Given the description of an element on the screen output the (x, y) to click on. 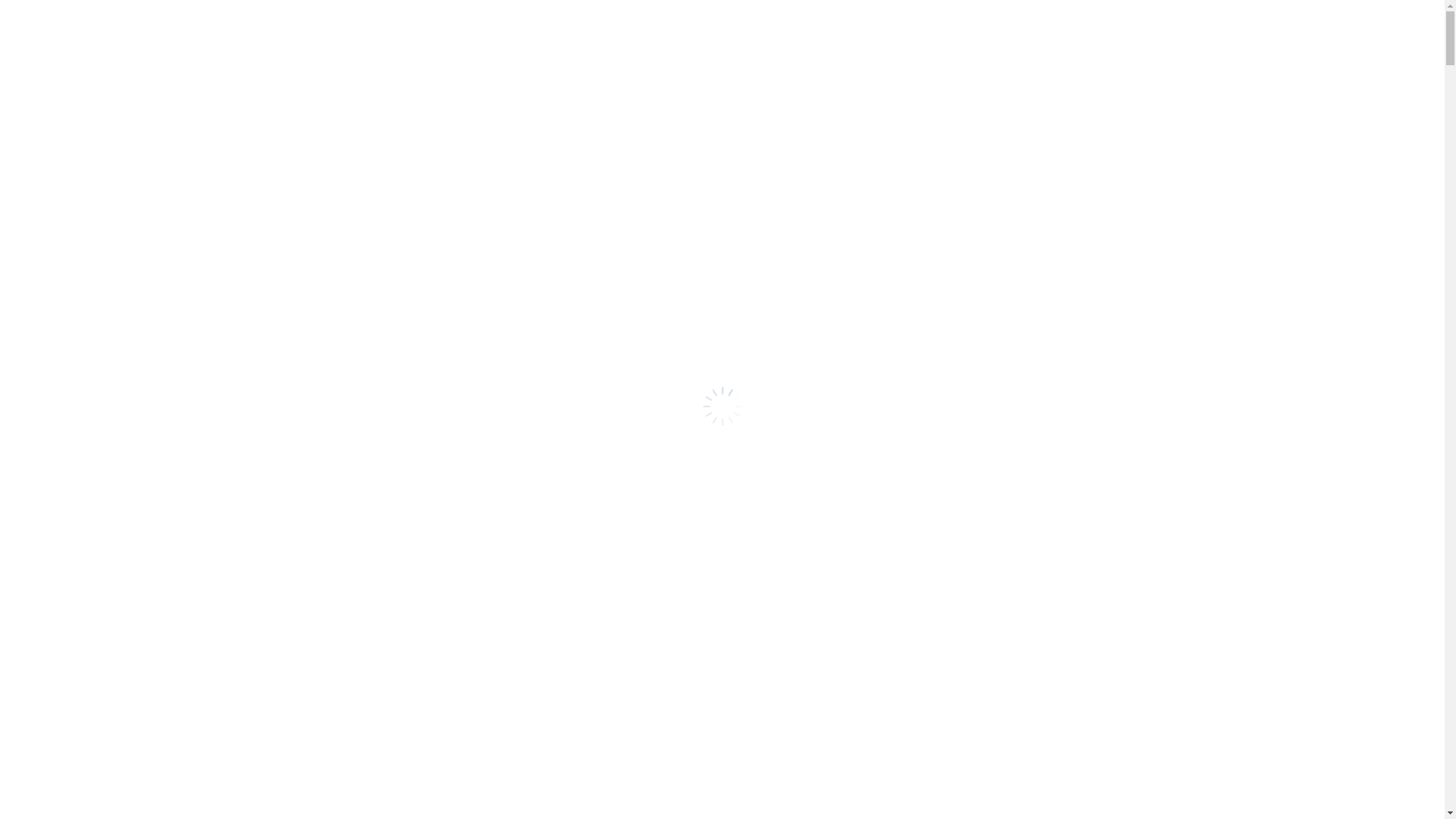
Pricing Element type: text (1113, 61)
Services Element type: text (873, 61)
Meet the Team Element type: text (1035, 61)
Counselling Element type: text (945, 61)
